Given the description of an element on the screen output the (x, y) to click on. 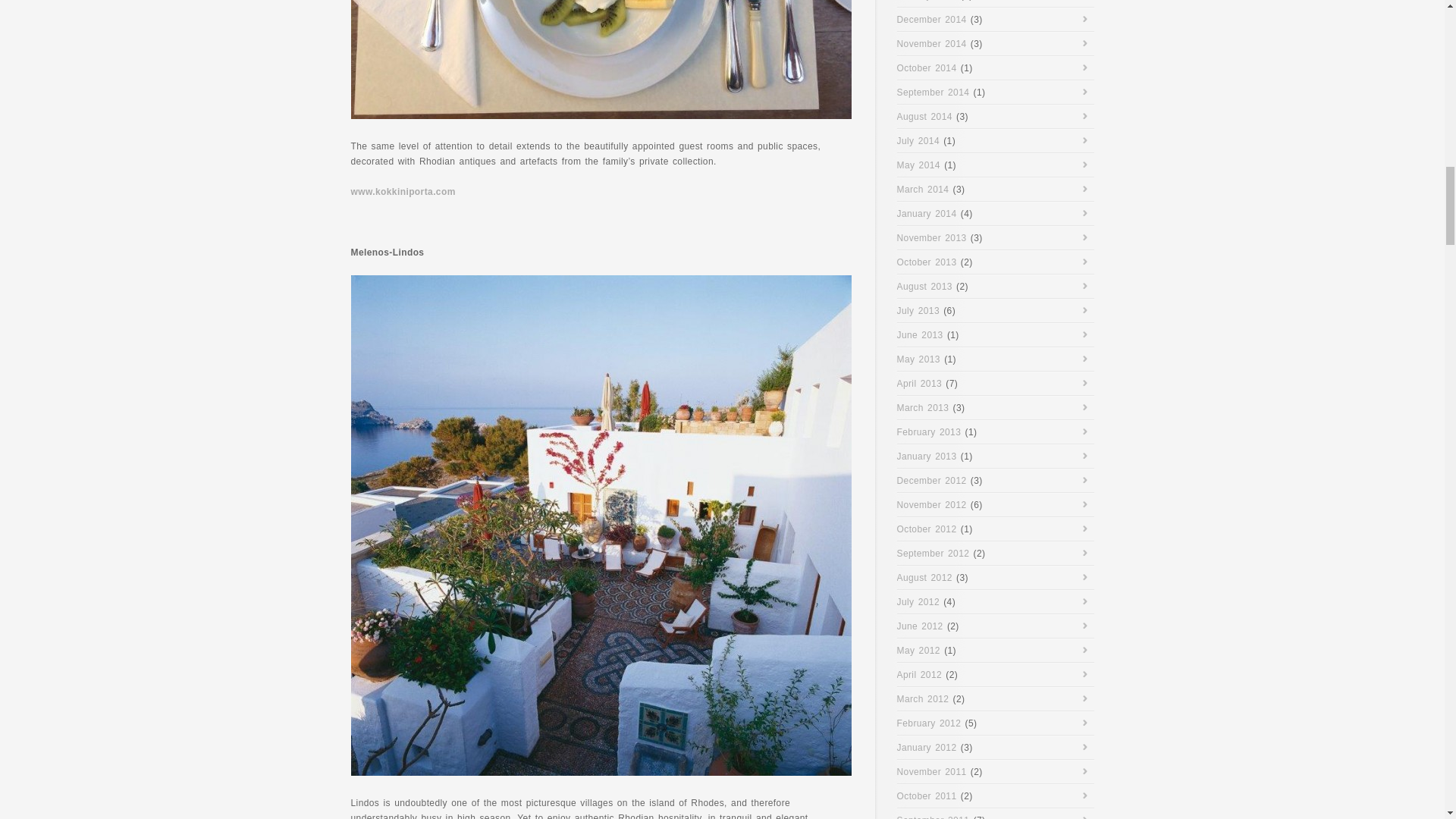
www.kokkiniporta.com (402, 191)
